Given the description of an element on the screen output the (x, y) to click on. 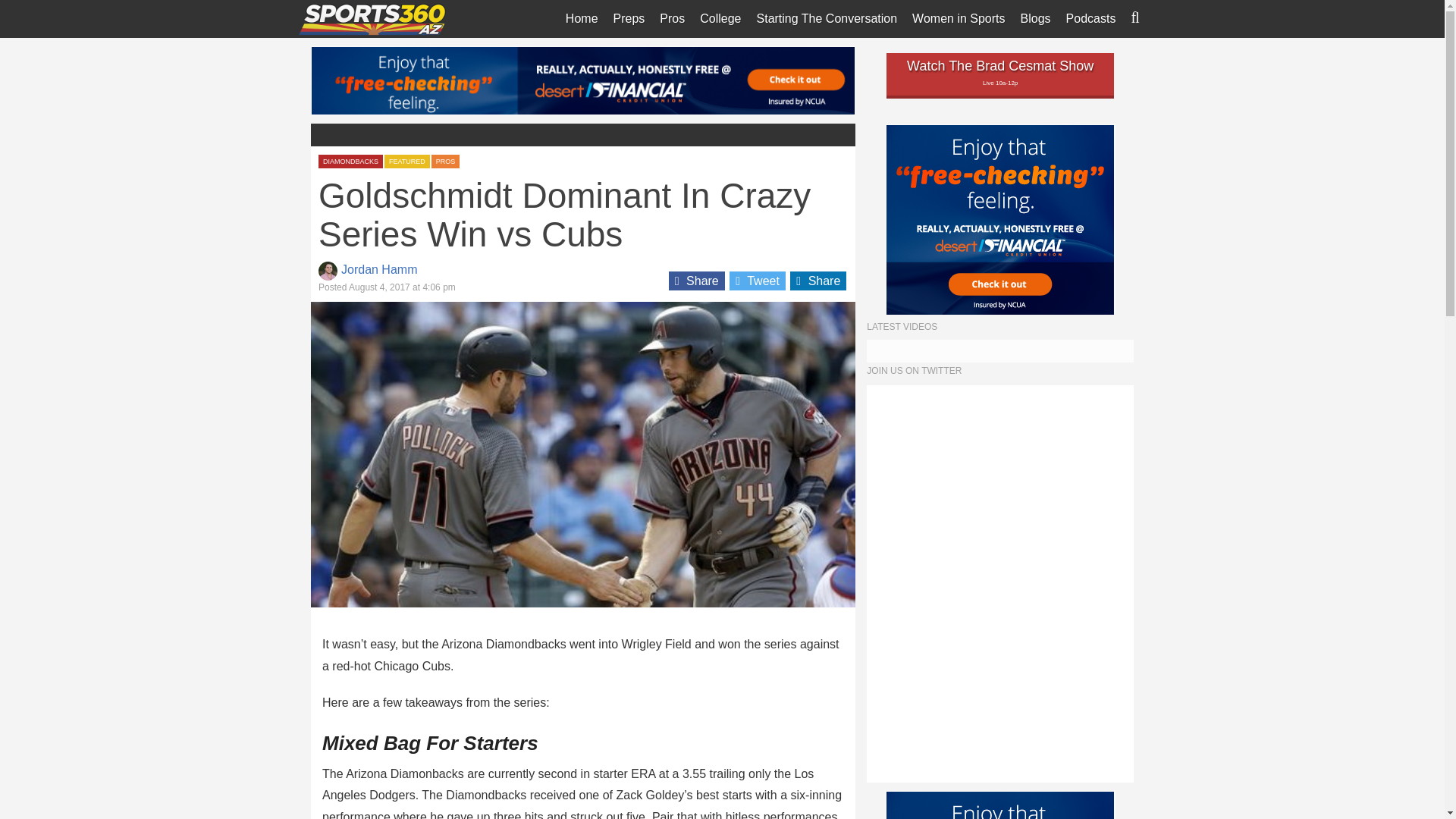
Starting The Conversation (827, 18)
Phoenix Rising FC (720, 193)
Preps (628, 18)
Cardinals (720, 56)
Grand Canyon University (760, 227)
Arizona State University (760, 124)
Share on Facebook (696, 280)
Suns (720, 124)
University of Arizona (760, 91)
CUSD Live (674, 159)
High School Zone (674, 124)
Home (581, 18)
Arizona Christian University (760, 159)
Blogs (1035, 18)
Pros (672, 18)
